Given the description of an element on the screen output the (x, y) to click on. 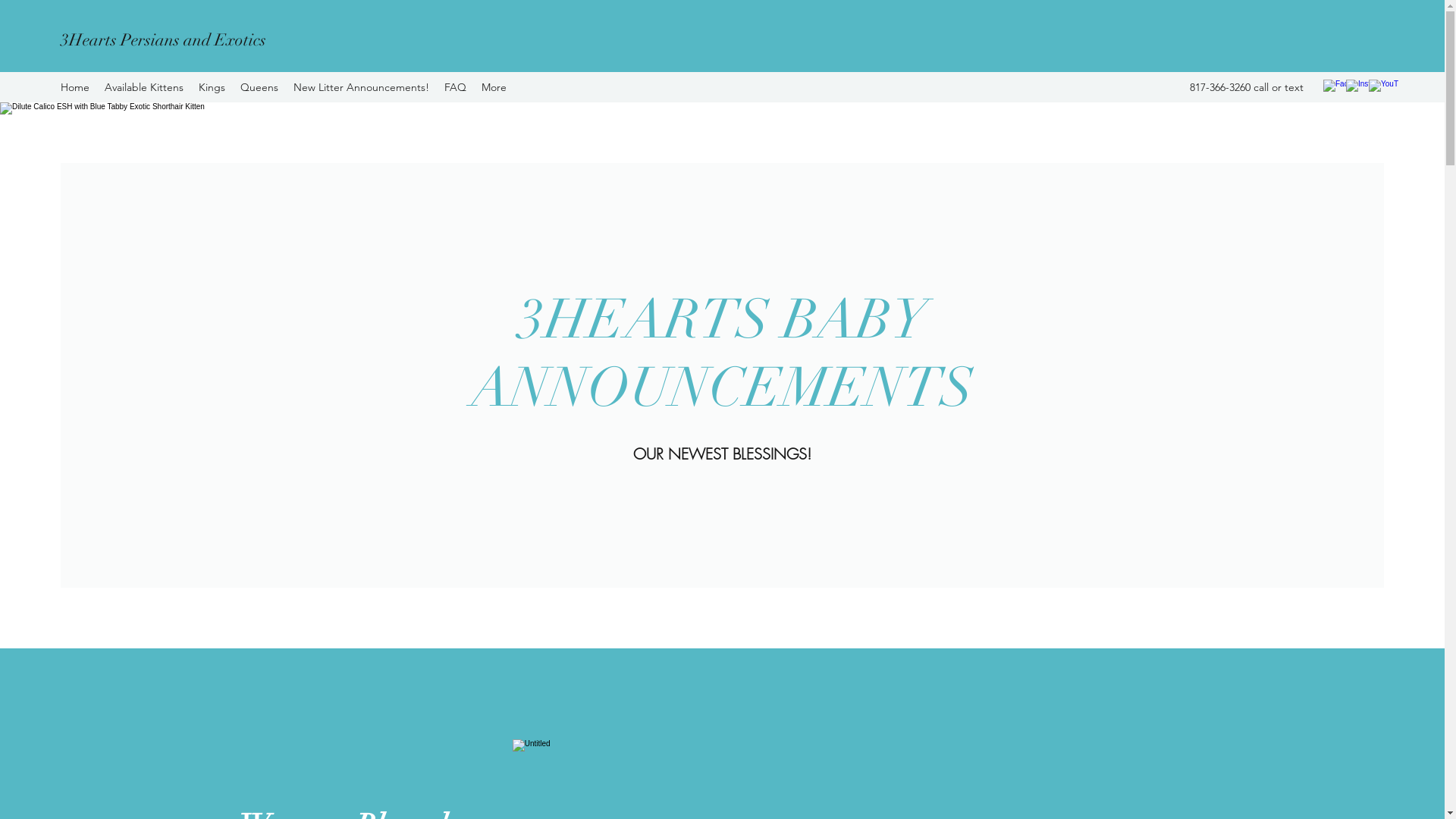
Available Kittens Element type: text (144, 86)
Kings Element type: text (211, 86)
Queens Element type: text (258, 86)
3Hearts Persians and Exotics  Element type: text (164, 39)
Home Element type: text (75, 86)
New Litter Announcements! Element type: text (360, 86)
FAQ Element type: text (454, 86)
